Given the description of an element on the screen output the (x, y) to click on. 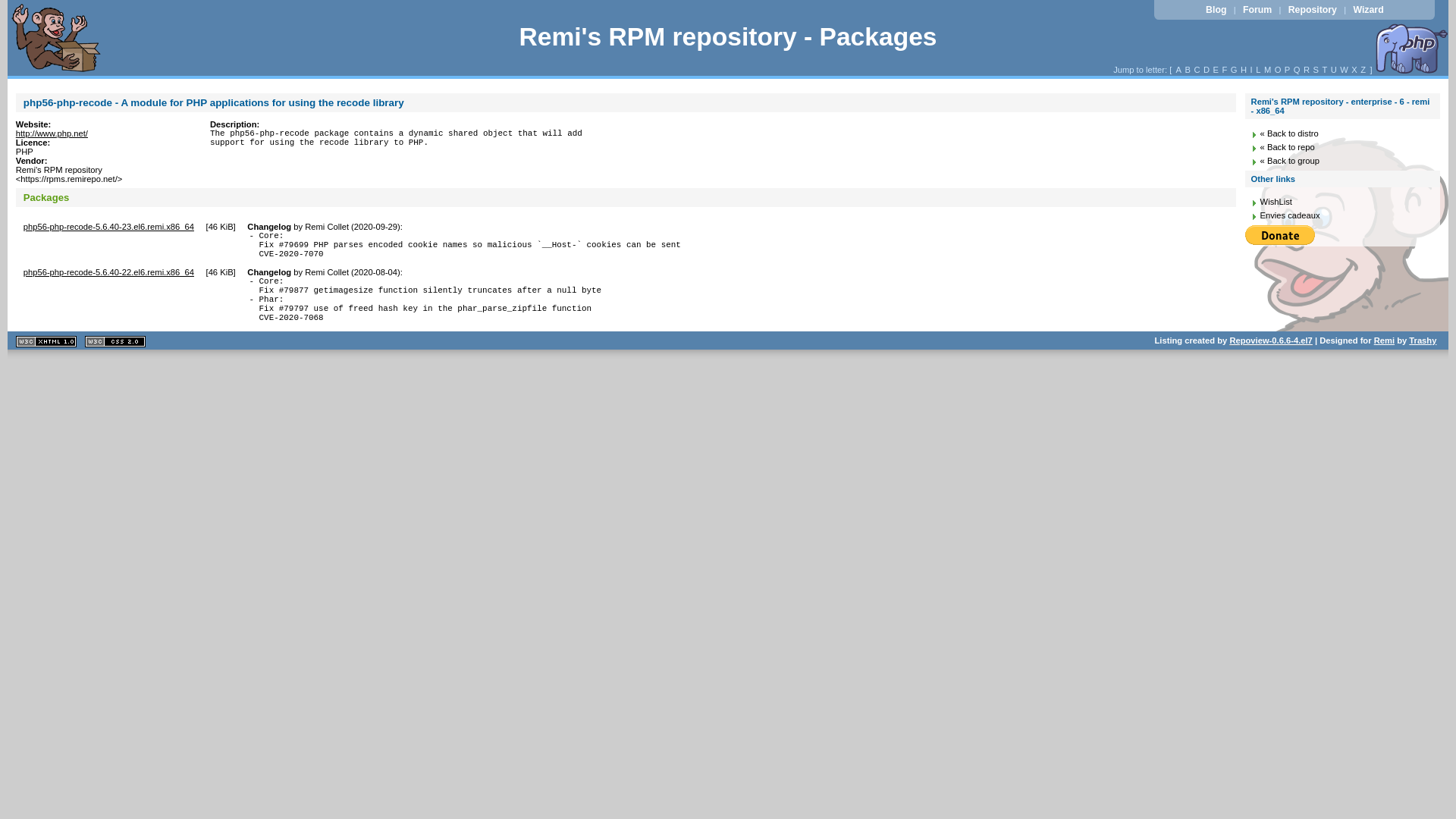
Wizard Element type: text (1368, 9)
R Element type: text (1306, 69)
S Element type: text (1315, 69)
Forum Element type: text (1257, 9)
Blog Element type: text (1216, 9)
Repository Element type: text (1312, 9)
Remi Element type: text (1384, 340)
W Element type: text (1343, 69)
C Element type: text (1196, 69)
php56-php-recode-5.6.40-22.el6.remi.x86_64 Element type: text (108, 271)
http://www.php.net/ Element type: text (51, 133)
H Element type: text (1243, 69)
U Element type: text (1334, 69)
CSS 2.0 valide Element type: text (114, 341)
E Element type: text (1215, 69)
Remi's RPM repository - Packages Element type: text (727, 36)
Z Element type: text (1362, 69)
Trashy Element type: text (1422, 340)
A Element type: text (1178, 69)
M Element type: text (1267, 69)
Repoview-0.6.6-4.el7 Element type: text (1270, 340)
WishList Element type: text (1276, 201)
G Element type: text (1234, 69)
Envies cadeaux Element type: text (1290, 214)
php56-php-recode-5.6.40-23.el6.remi.x86_64 Element type: text (108, 226)
Q Element type: text (1297, 69)
T Element type: text (1324, 69)
XHTML 1.1 valide Element type: text (45, 341)
I Element type: text (1251, 69)
L Element type: text (1258, 69)
P Element type: text (1287, 69)
O Element type: text (1277, 69)
B Element type: text (1187, 69)
X Element type: text (1353, 69)
F Element type: text (1224, 69)
D Element type: text (1206, 69)
